Given the description of an element on the screen output the (x, y) to click on. 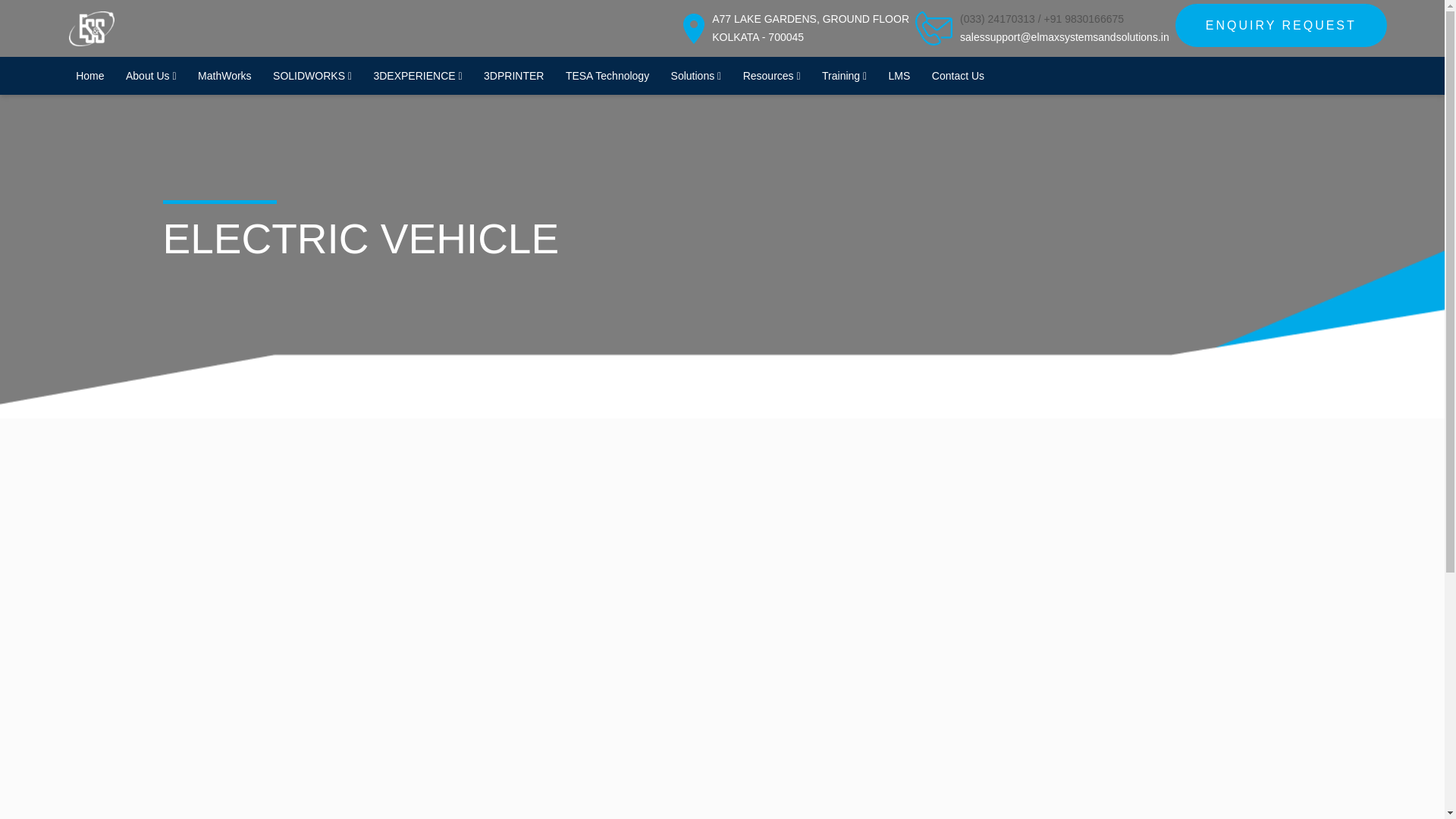
ENQUIRY REQUEST (1280, 25)
3DEXPERIENCE (416, 75)
SOLIDWORKS (312, 75)
About Us (150, 75)
MathWorks (809, 28)
Home (224, 75)
